Given the description of an element on the screen output the (x, y) to click on. 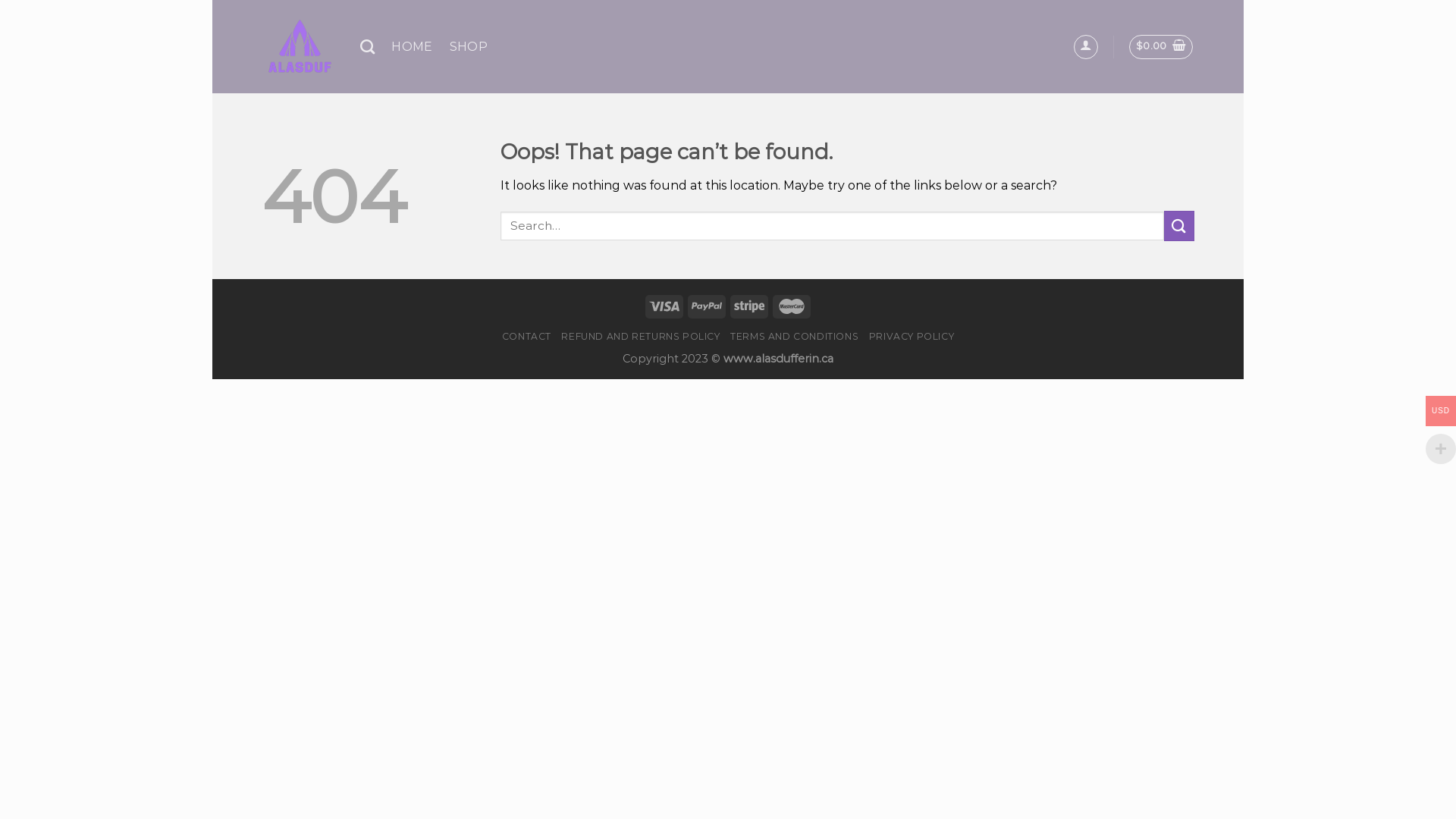
TERMS AND CONDITIONS Element type: text (794, 336)
CONTACT Element type: text (526, 336)
$0.00 Element type: text (1161, 46)
PRIVACY POLICY Element type: text (911, 336)
REFUND AND RETURNS POLICY Element type: text (640, 336)
SHOP Element type: text (468, 46)
HOME Element type: text (411, 46)
